Given the description of an element on the screen output the (x, y) to click on. 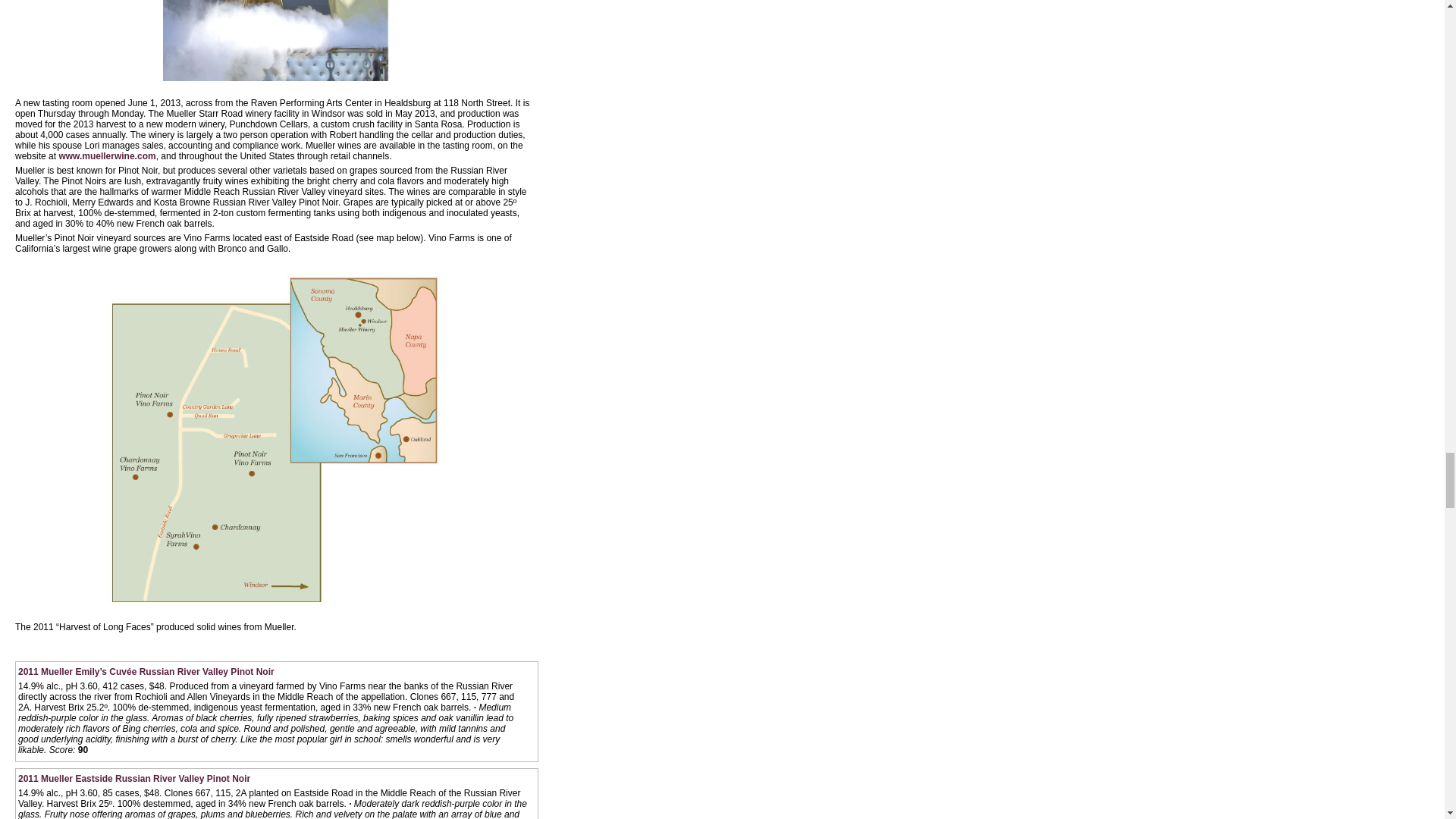
2011 Mueller Eastside Russian River Valley Pinot Noir (133, 778)
www.muellerwine.com (106, 155)
